Given the description of an element on the screen output the (x, y) to click on. 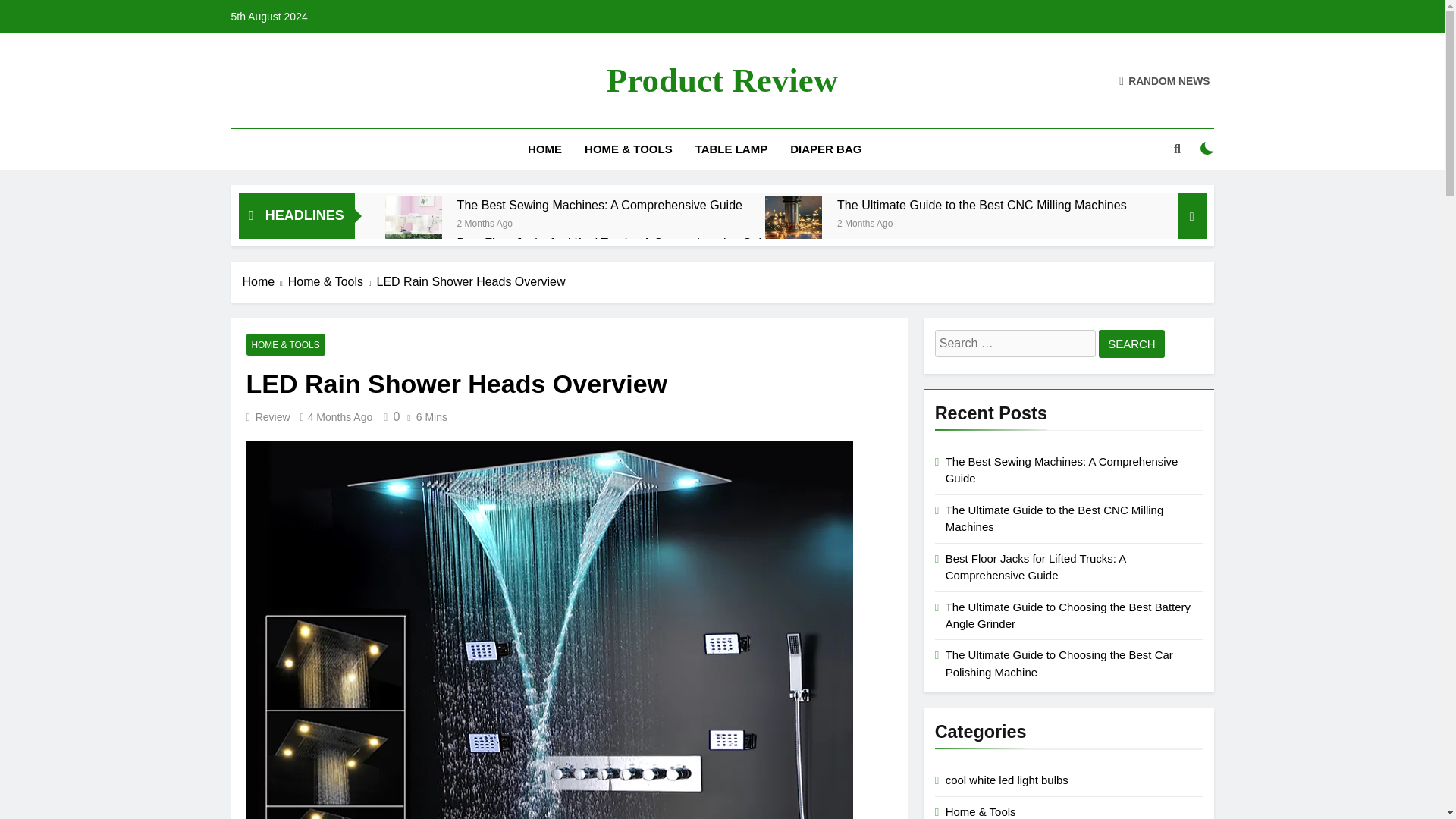
2 Months Ago (484, 222)
The Best Sewing Machines: A Comprehensive Guide (599, 205)
HOME (544, 148)
on (1206, 148)
Product Review (722, 80)
4 Months Ago (339, 417)
RANDOM NEWS (1164, 80)
The Ultimate Guide to the Best CNC Milling Machines (981, 205)
The Best Sewing Machines: A Comprehensive Guide (413, 224)
Best Floor Jacks for Lifted Trucks: A Comprehensive Guide (615, 242)
The Ultimate Guide to the Best CNC Milling Machines (981, 205)
Search (1131, 343)
0 (388, 416)
The Best Sewing Machines: A Comprehensive Guide (599, 205)
DIAPER BAG (825, 148)
